Given the description of an element on the screen output the (x, y) to click on. 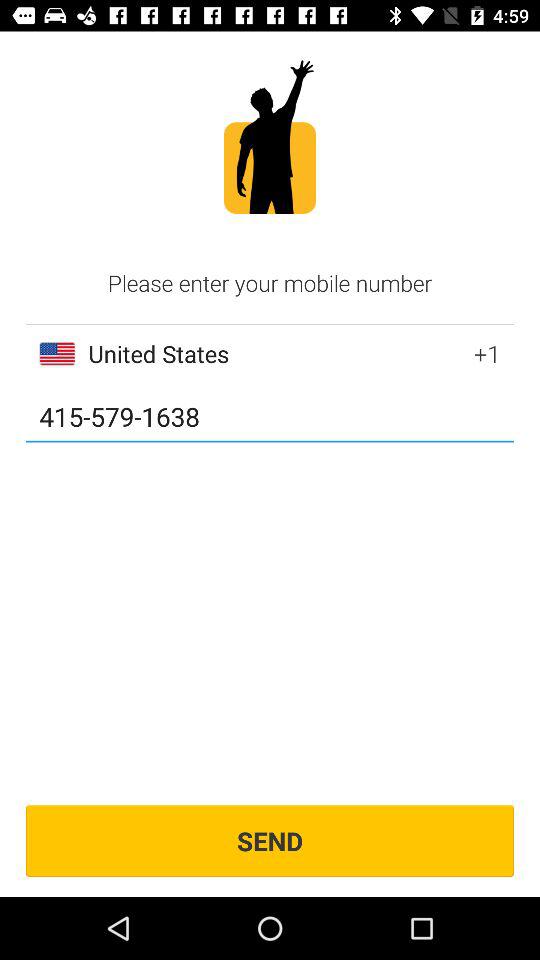
scroll to the send icon (269, 840)
